Given the description of an element on the screen output the (x, y) to click on. 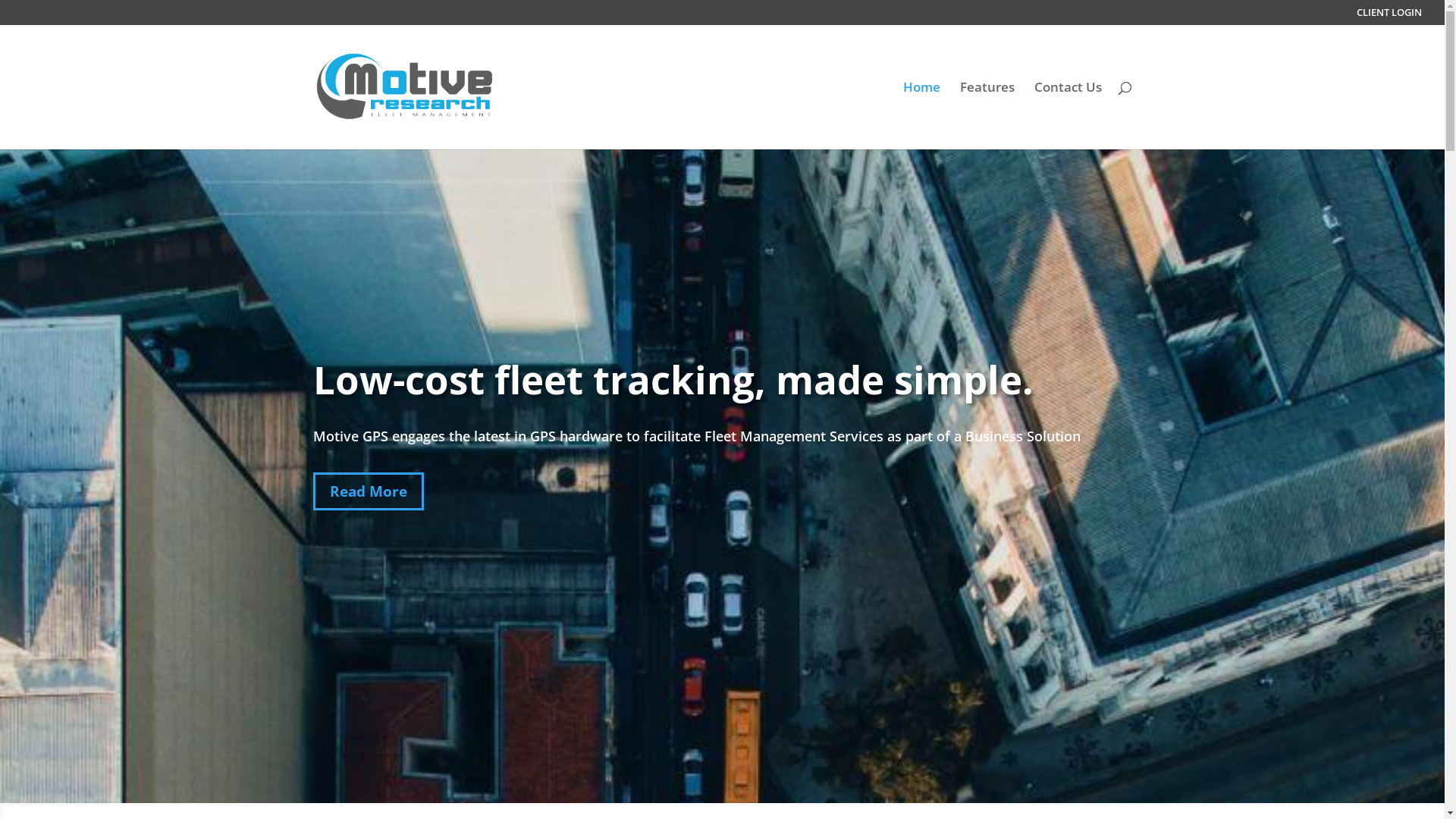
Home Element type: text (920, 115)
Contact Us Element type: text (1067, 115)
Read More Element type: text (367, 491)
CLIENT LOGIN Element type: text (1388, 16)
Features Element type: text (987, 115)
